Given the description of an element on the screen output the (x, y) to click on. 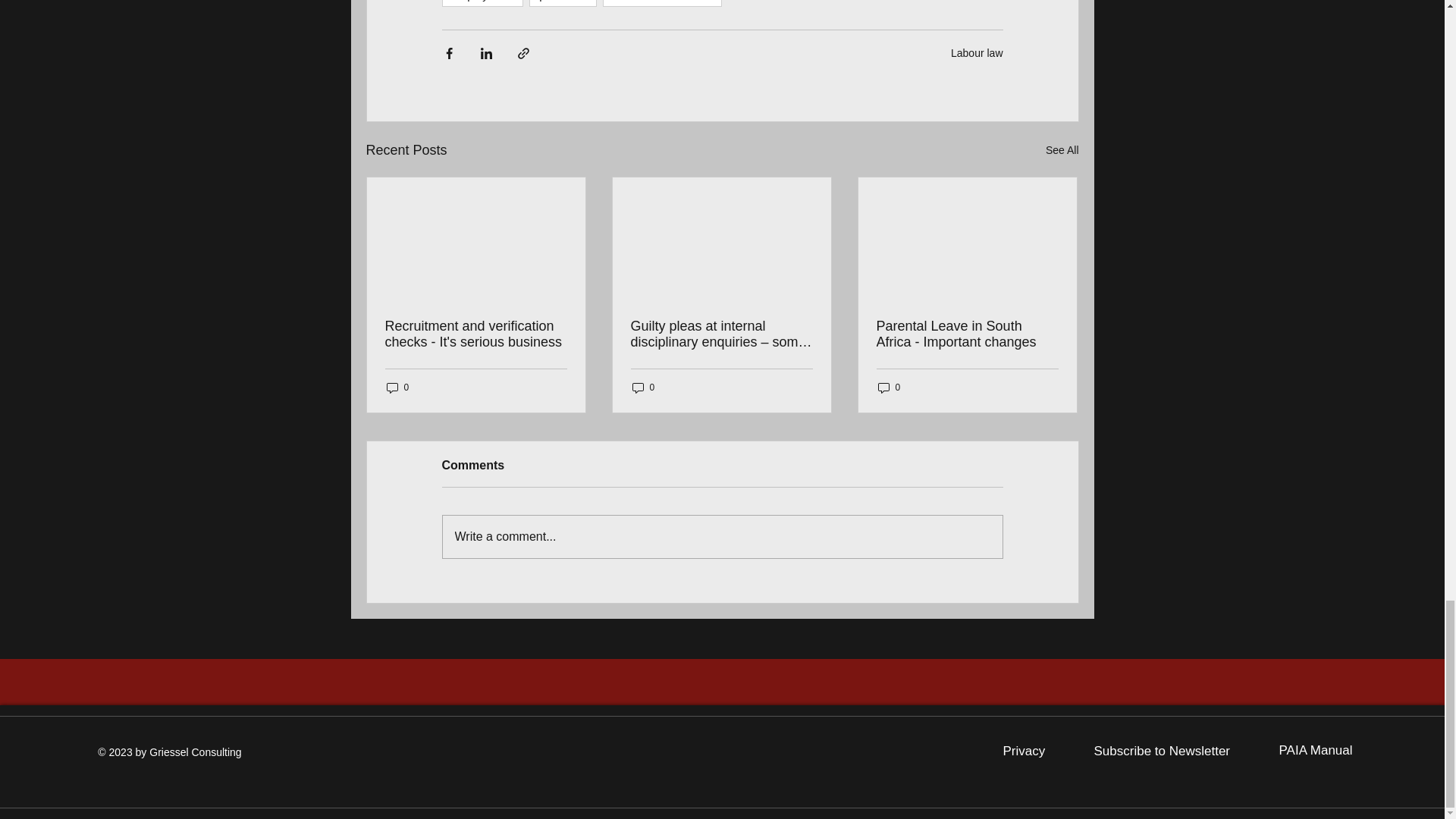
See All (1061, 150)
0 (397, 387)
0 (643, 387)
Privacy (1024, 750)
probation (562, 3)
0 (889, 387)
Parental Leave in South Africa - Important changes (967, 334)
Write a comment... (722, 536)
fixed-term contracts (662, 3)
Recruitment and verification checks - It's serious business (476, 334)
Subscribe to Newsletter (1161, 750)
Labour law (976, 52)
employment (481, 3)
PAIA Manual (1315, 749)
